Given the description of an element on the screen output the (x, y) to click on. 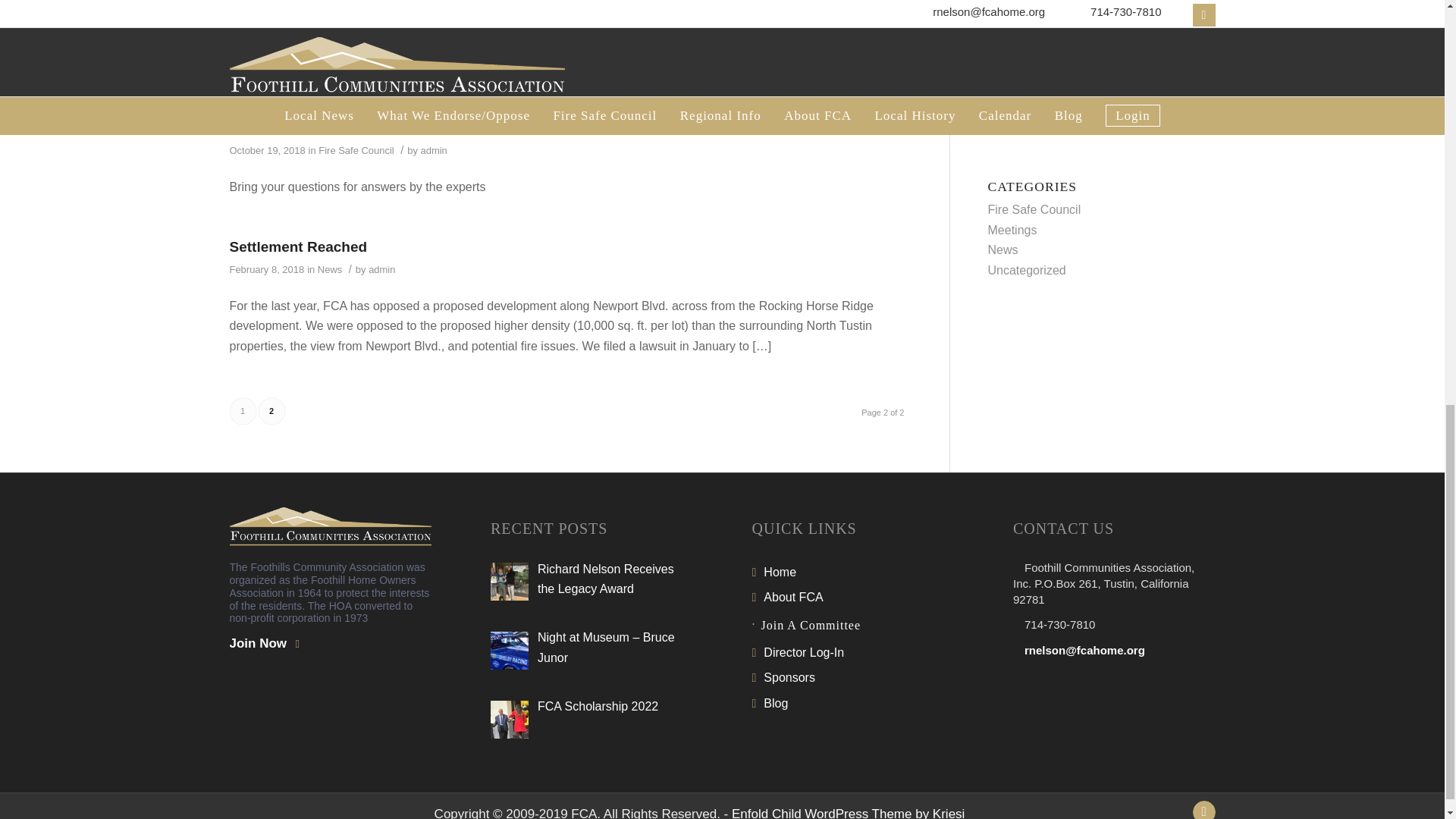
Posts by admin (381, 269)
Posts by admin (432, 71)
Posts by admin (433, 150)
Facebook (1203, 809)
Permanent Link: Settlement Reached (297, 246)
